Given the description of an element on the screen output the (x, y) to click on. 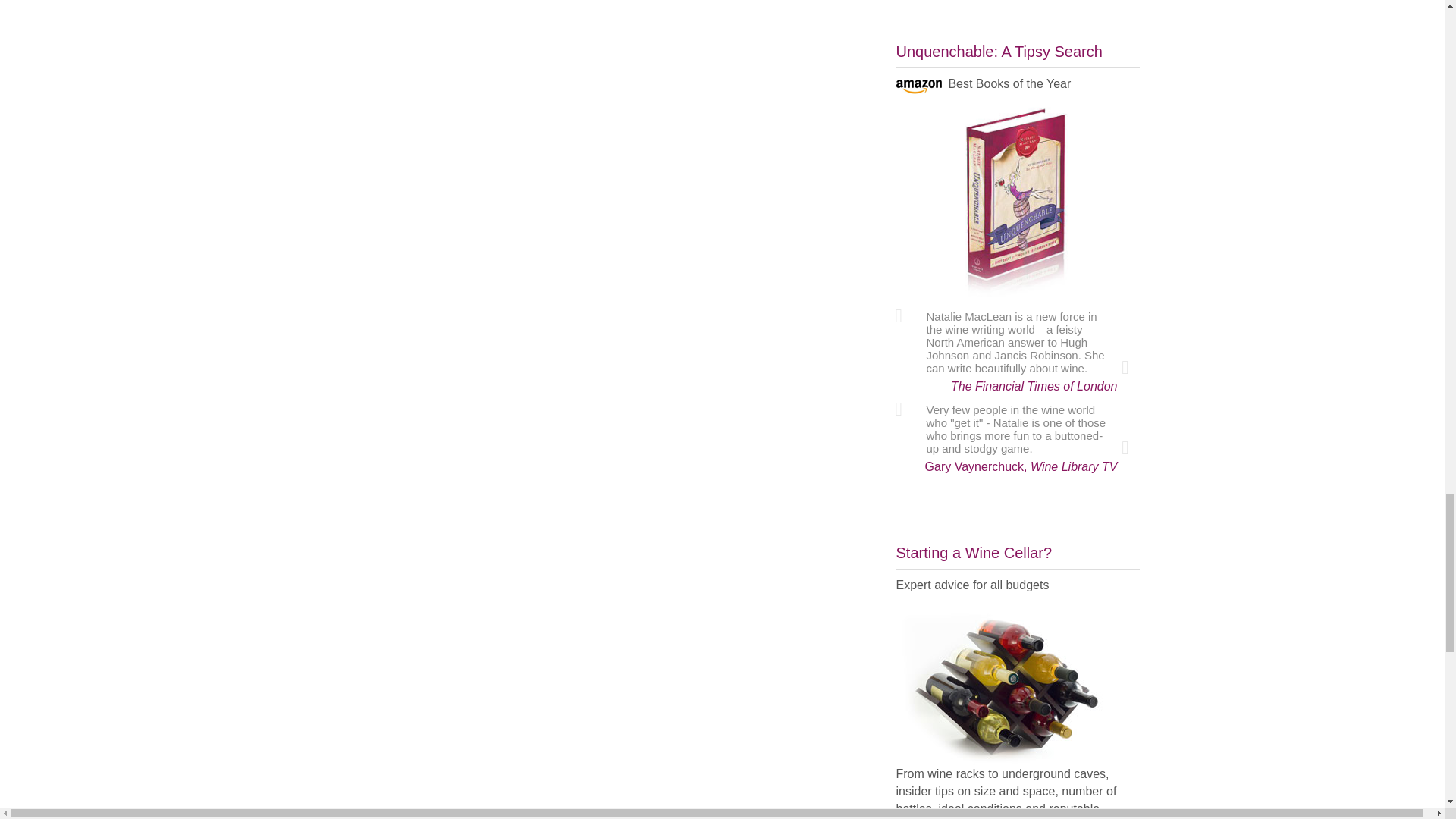
Unquenchable: A Tipsy Search (1018, 205)
